Given the description of an element on the screen output the (x, y) to click on. 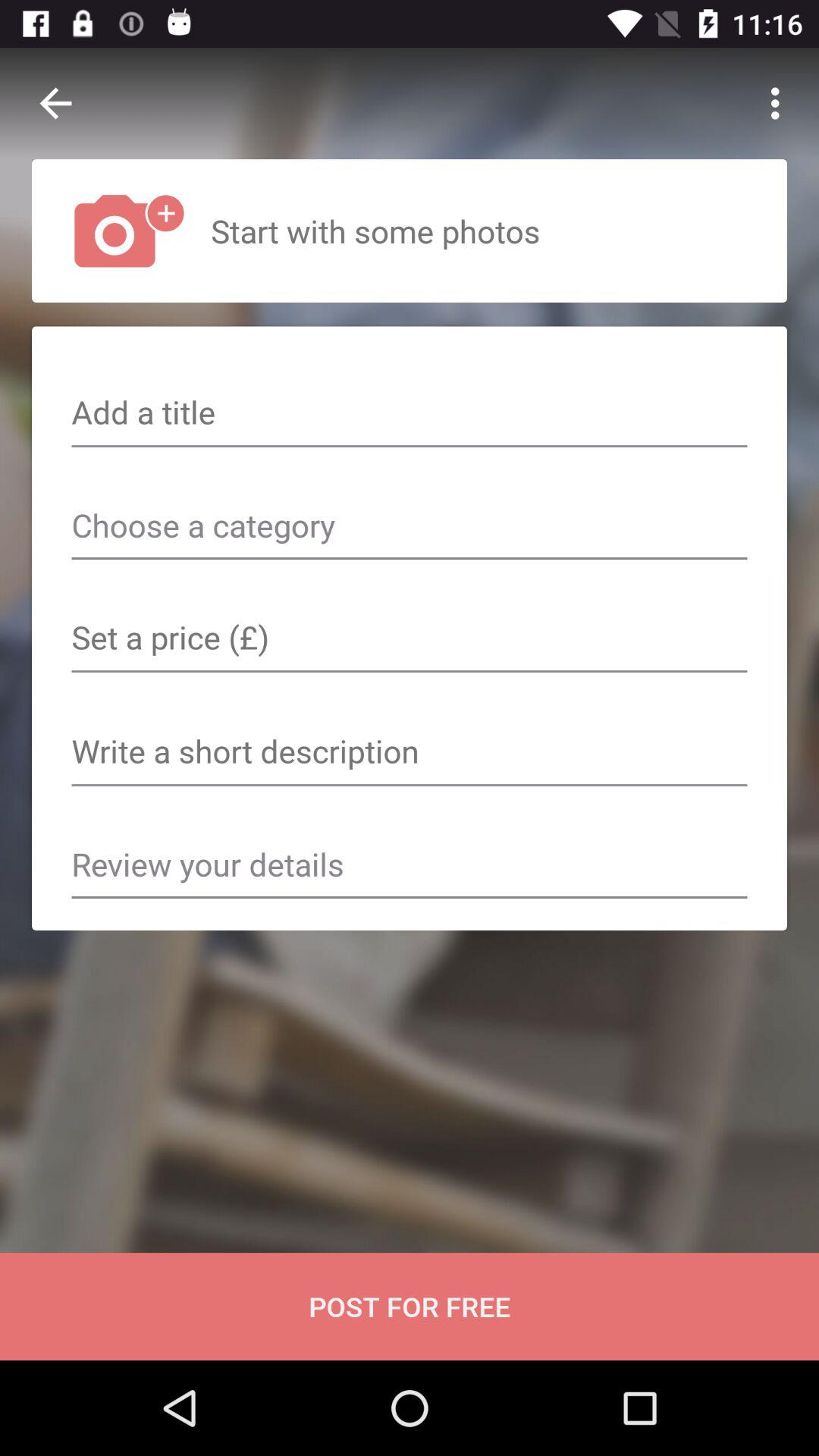
enter short product description (409, 752)
